Given the description of an element on the screen output the (x, y) to click on. 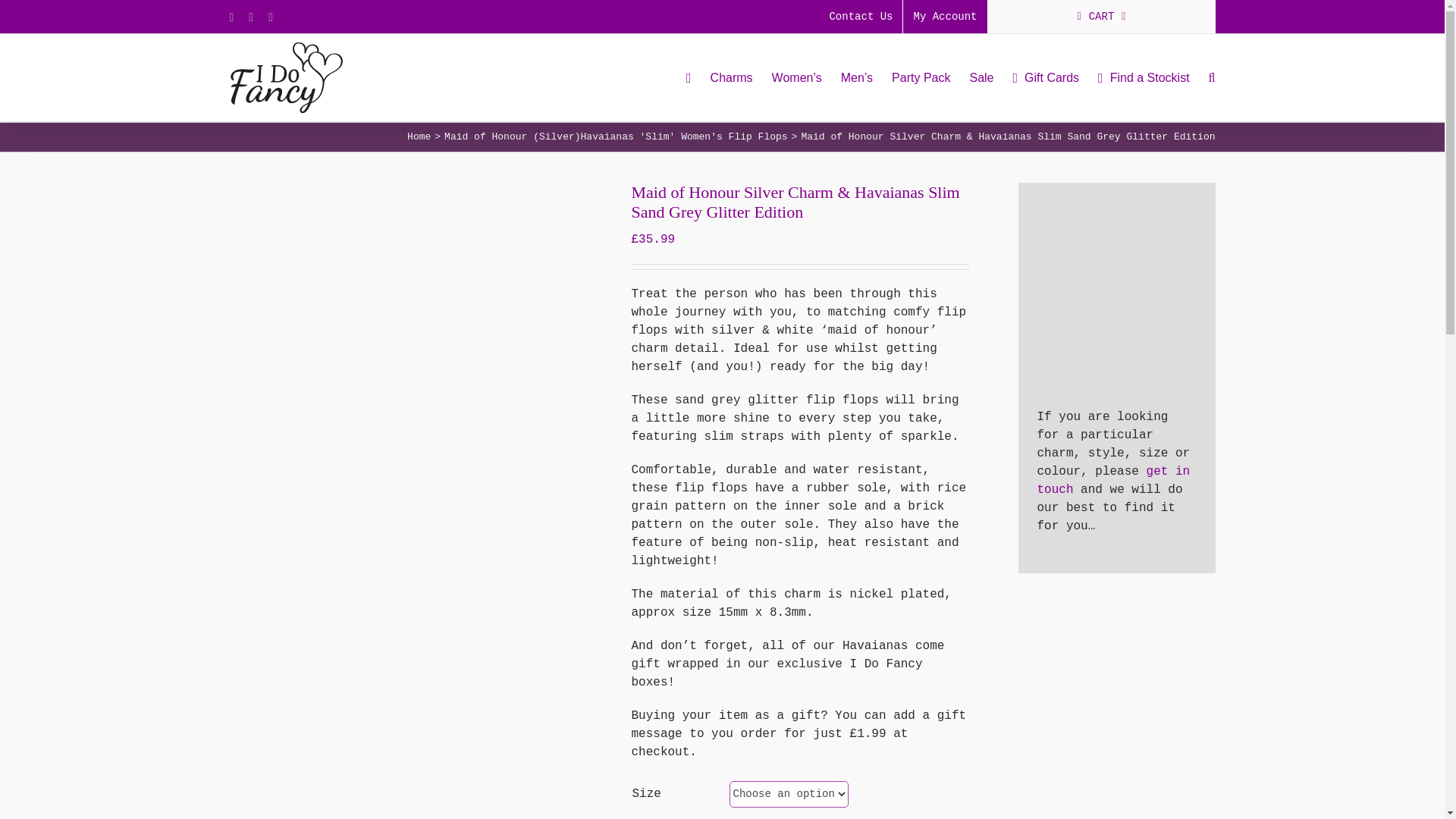
Contact Us (860, 16)
Log In (1083, 154)
Find a Stockist (1143, 77)
CART (1100, 16)
My Account (944, 16)
